Given the description of an element on the screen output the (x, y) to click on. 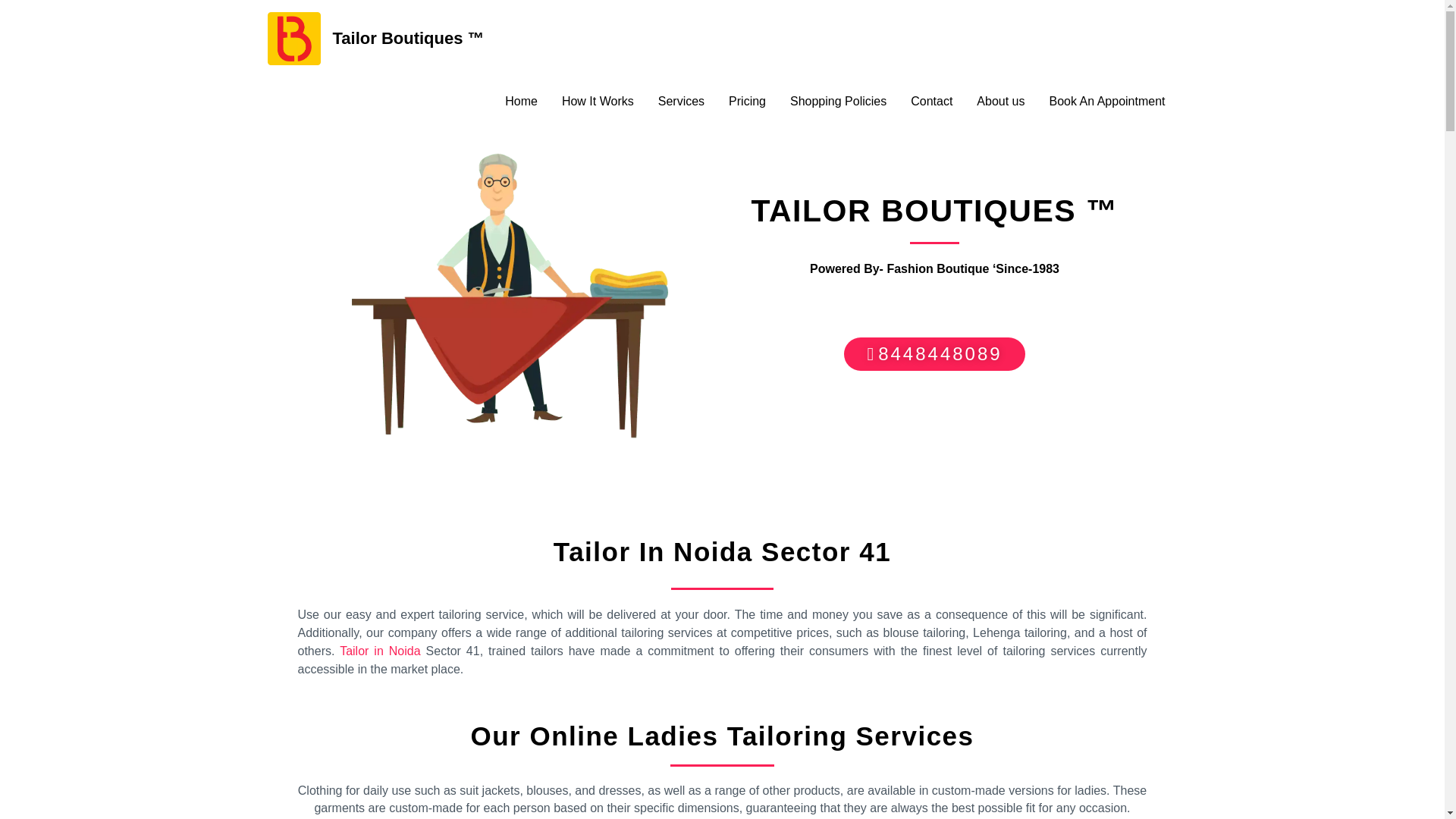
About us (999, 101)
How It Works (598, 101)
Contact (930, 101)
Tailor in Noida (379, 650)
Tailor in Noida (379, 650)
Book An Appointment (1106, 101)
8448448089 (934, 354)
Pricing (746, 101)
Services (681, 101)
Shopping Policies (837, 101)
Home (521, 101)
